Given the description of an element on the screen output the (x, y) to click on. 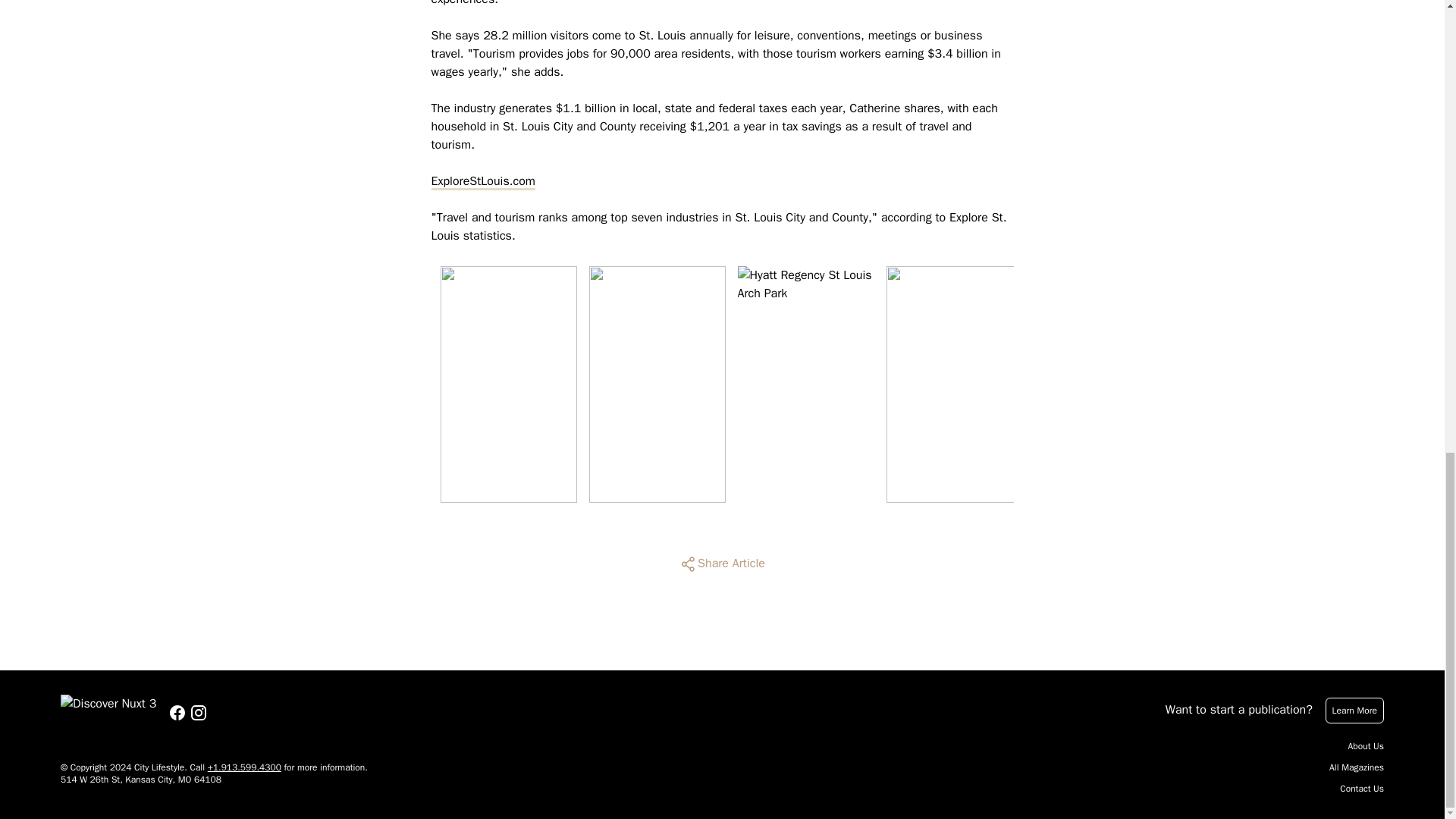
Contact Us (1361, 788)
ExploreStLouis.com (482, 180)
All Magazines (1356, 767)
Learn More (1354, 710)
About Us (1366, 746)
Share Article (722, 563)
